Given the description of an element on the screen output the (x, y) to click on. 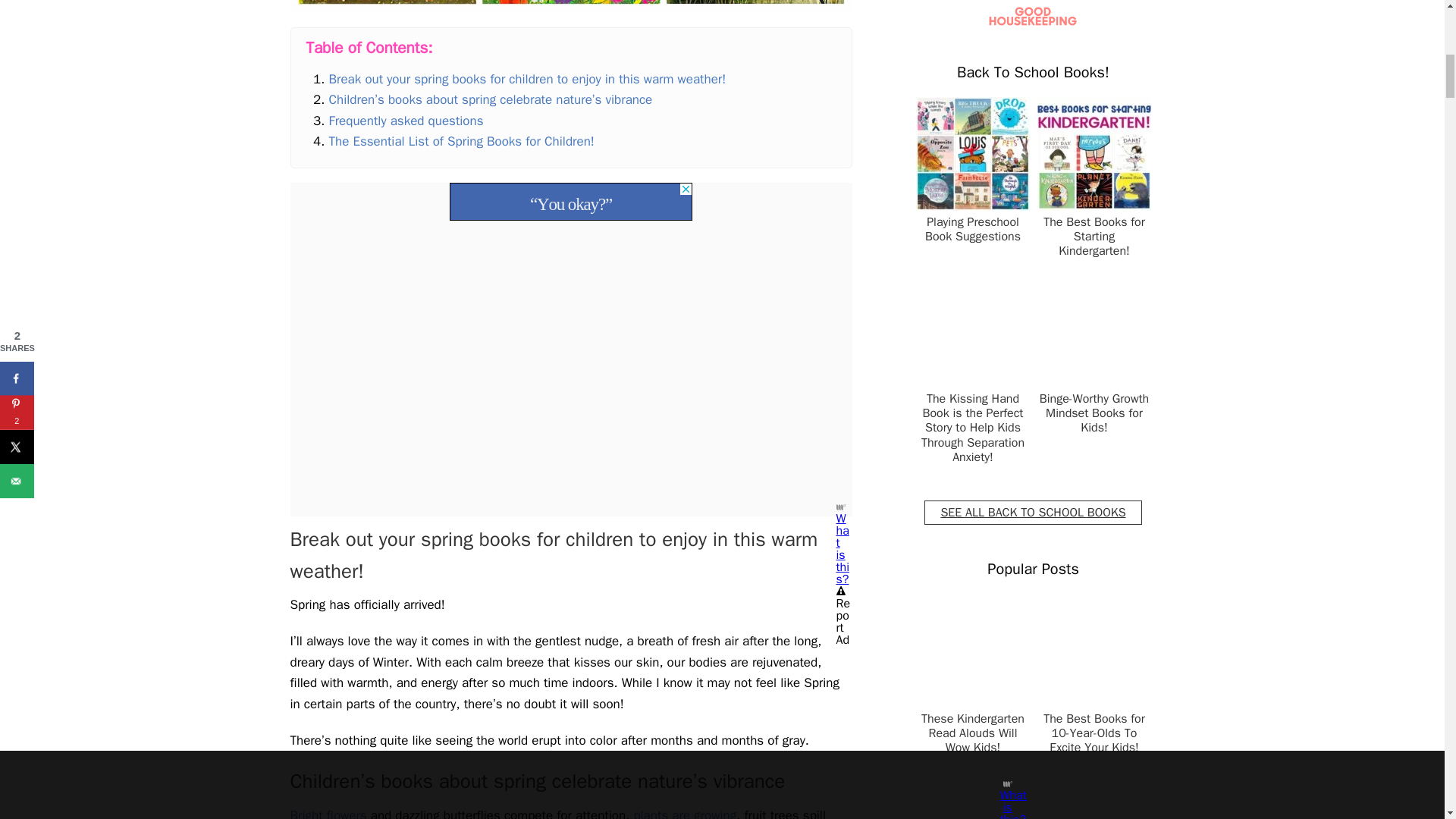
Bright flowers (327, 813)
Frequently asked questions (406, 120)
Back to School (1032, 512)
The Essential List of Spring Books for Children! (461, 141)
plants are growing (684, 813)
3rd party ad content (571, 201)
